Given the description of an element on the screen output the (x, y) to click on. 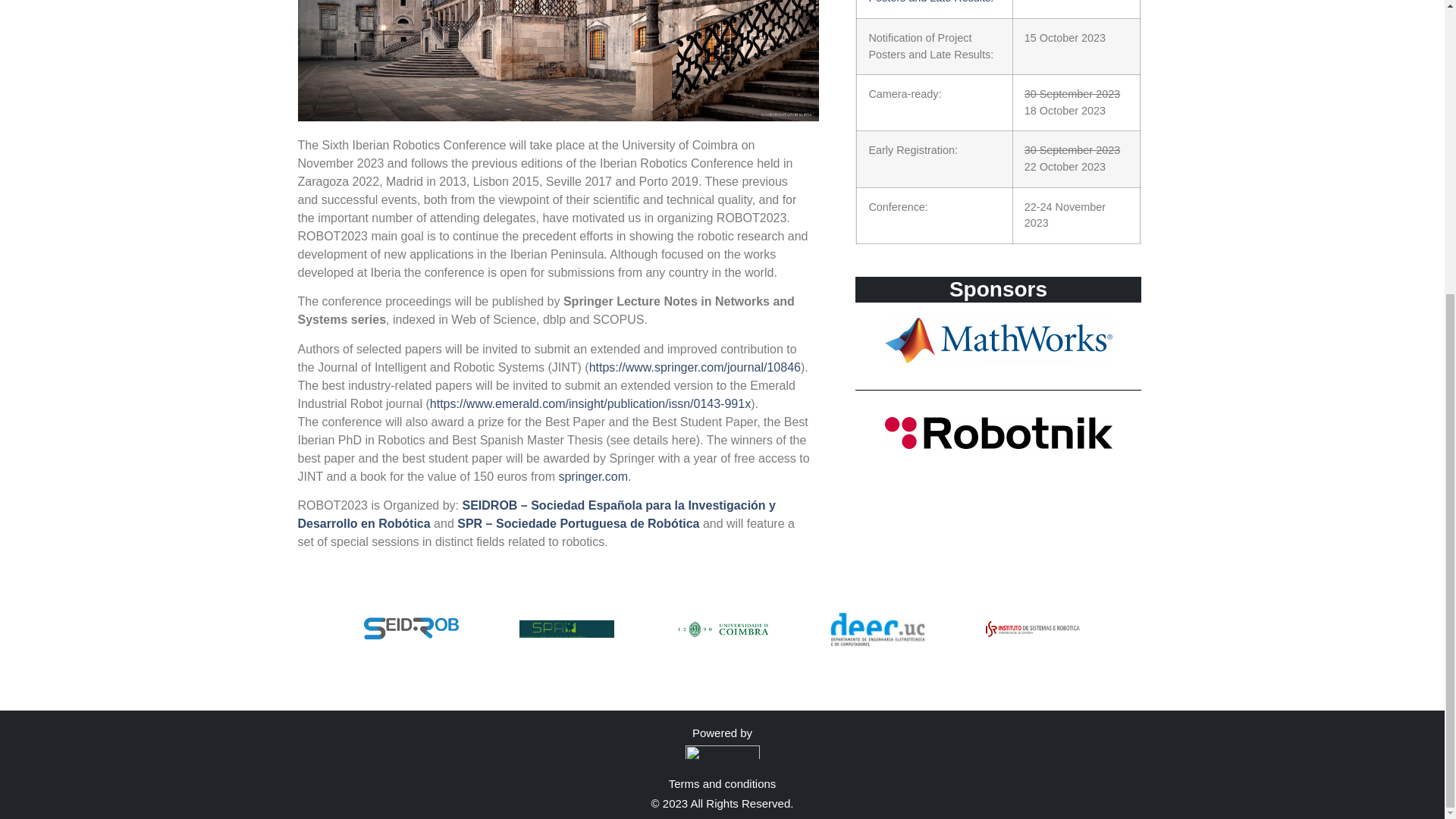
springer.com (592, 476)
Submissions of Project Posters and Late Results: (929, 2)
Terms and conditions (722, 783)
